Given the description of an element on the screen output the (x, y) to click on. 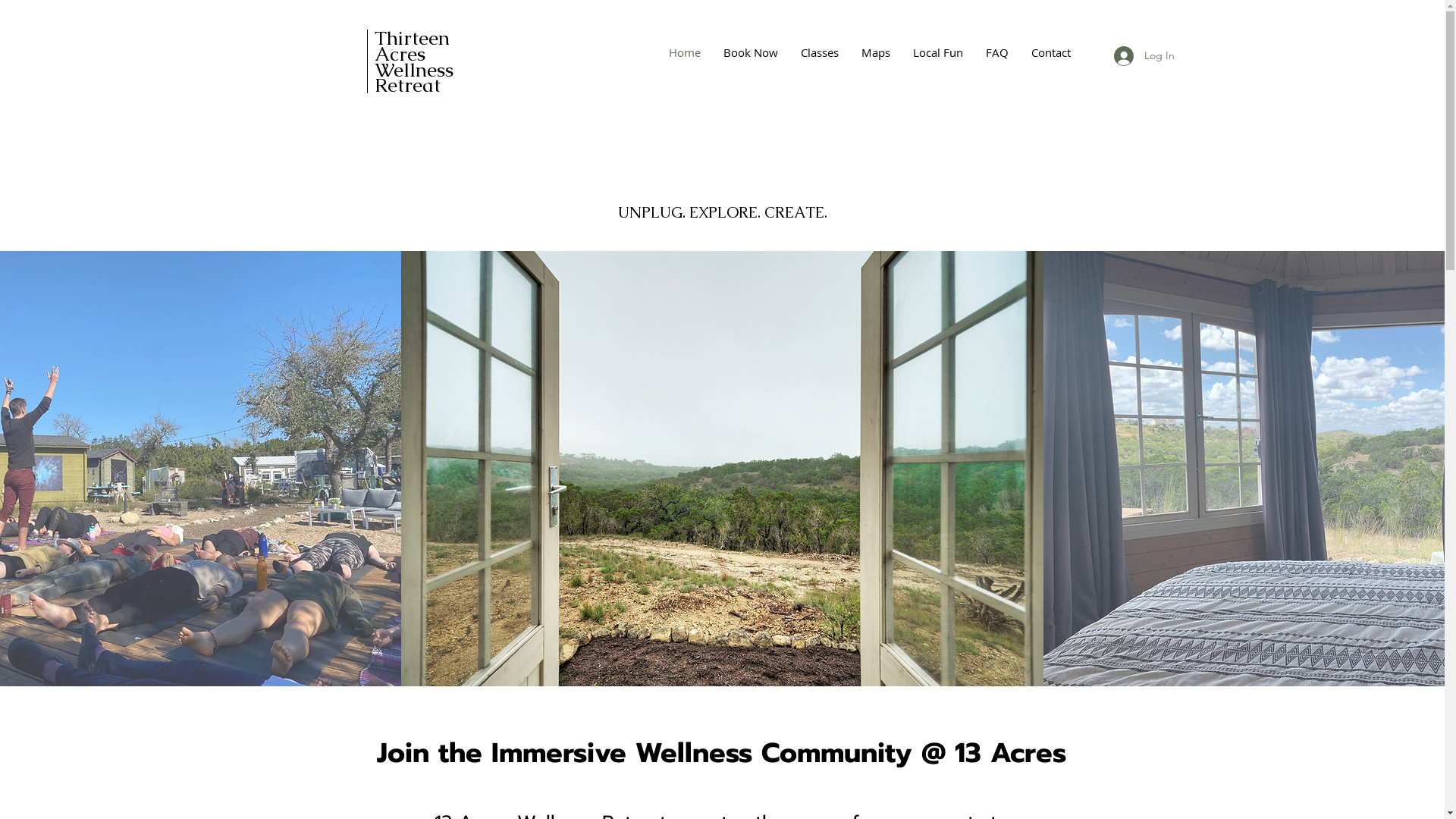
Book Now Element type: text (749, 51)
Thirteen Element type: text (411, 37)
Local Fun Element type: text (936, 51)
Log In Element type: text (1143, 54)
Home Element type: text (683, 51)
Contact Element type: text (1050, 51)
FAQ Element type: text (996, 51)
Maps Element type: text (874, 51)
Acres
Wellness
Retreat Element type: text (413, 76)
Classes Element type: text (818, 51)
